Given the description of an element on the screen output the (x, y) to click on. 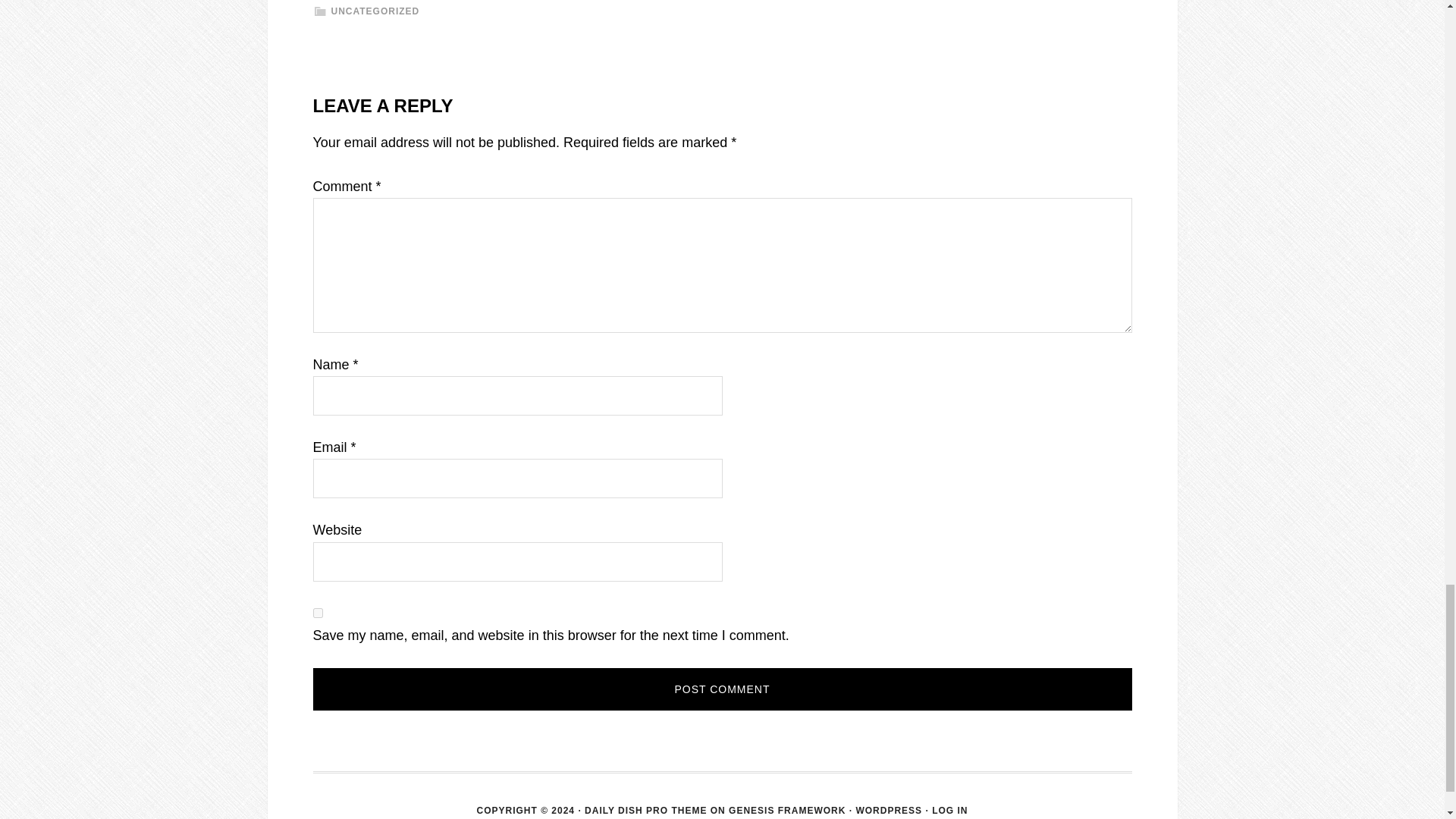
yes (317, 613)
UNCATEGORIZED (374, 10)
Post Comment (722, 689)
DAILY DISH PRO THEME (645, 810)
Post Comment (722, 689)
GENESIS FRAMEWORK (787, 810)
LOG IN (949, 810)
WORDPRESS (888, 810)
